Given the description of an element on the screen output the (x, y) to click on. 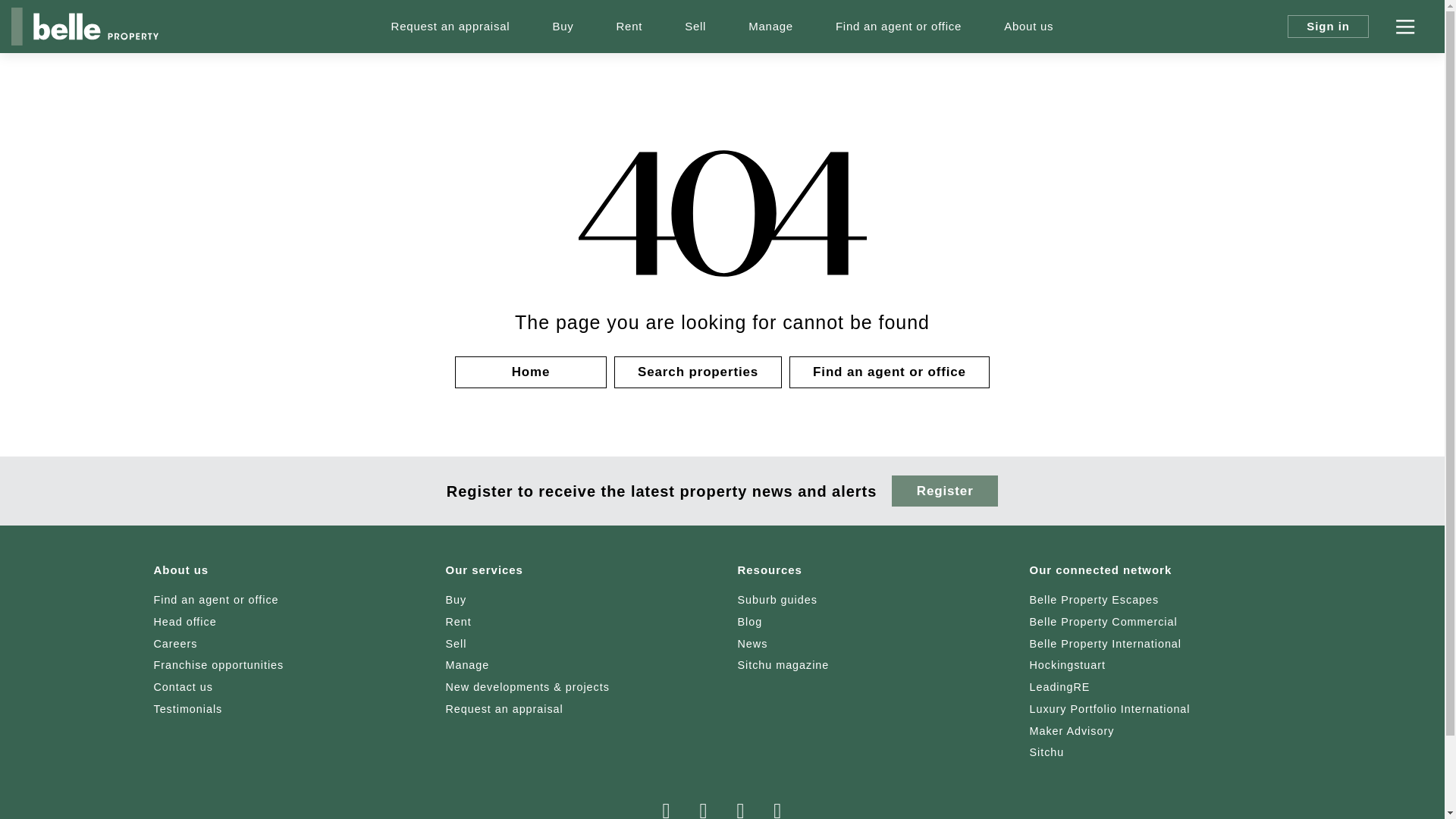
Sell (695, 26)
Find an agent or office (898, 26)
Buy (562, 26)
Request an appraisal (450, 26)
Manage (770, 26)
About us (1028, 26)
Rent (629, 26)
